Given the description of an element on the screen output the (x, y) to click on. 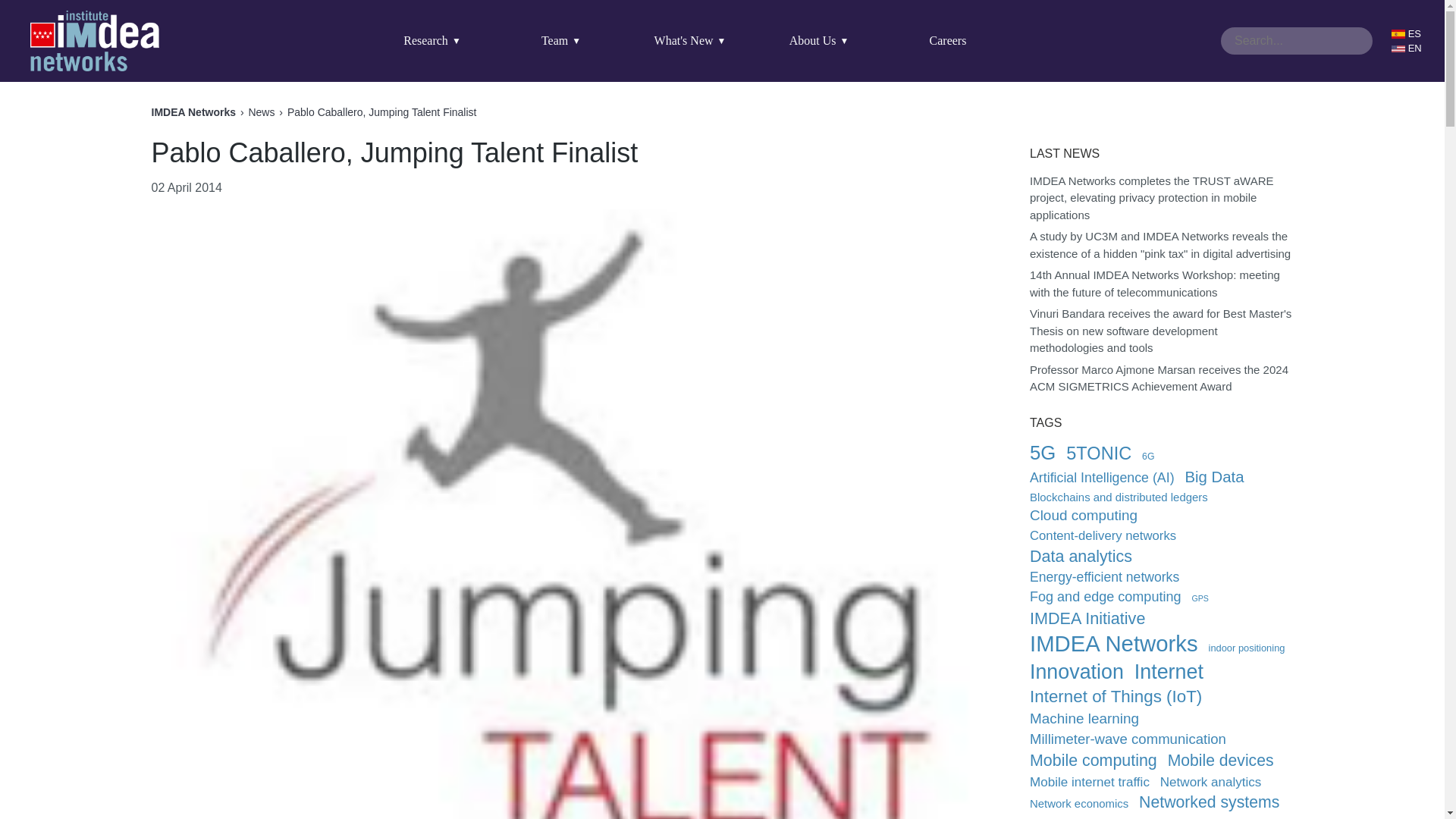
Careers (947, 41)
English (1410, 48)
EN (1410, 48)
IMDEA Networks (94, 40)
ES (1410, 32)
